Given the description of an element on the screen output the (x, y) to click on. 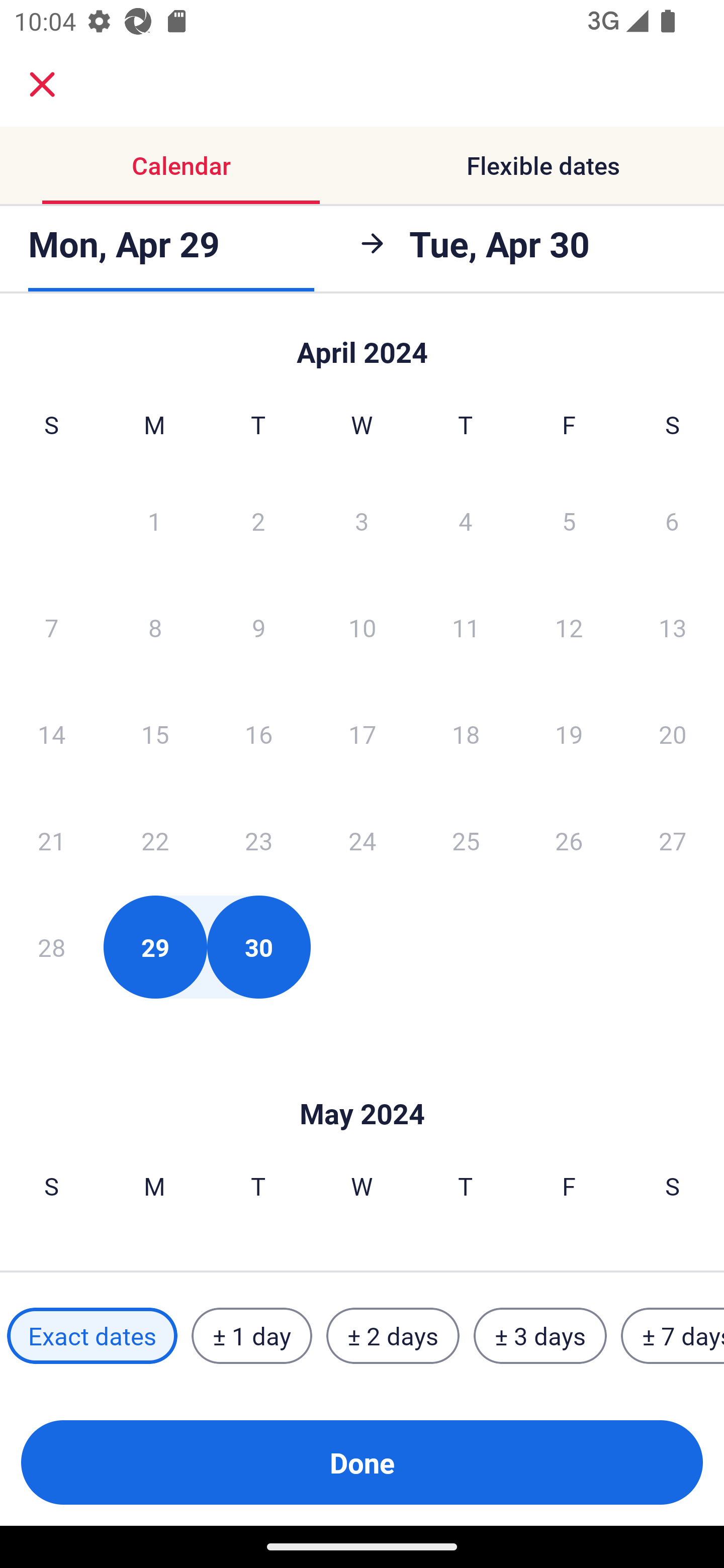
close. (42, 84)
Flexible dates (542, 164)
Skip to Done (362, 343)
1 Monday, April 1, 2024 (154, 520)
2 Tuesday, April 2, 2024 (257, 520)
3 Wednesday, April 3, 2024 (361, 520)
4 Thursday, April 4, 2024 (465, 520)
5 Friday, April 5, 2024 (568, 520)
6 Saturday, April 6, 2024 (672, 520)
7 Sunday, April 7, 2024 (51, 626)
8 Monday, April 8, 2024 (155, 626)
9 Tuesday, April 9, 2024 (258, 626)
10 Wednesday, April 10, 2024 (362, 626)
11 Thursday, April 11, 2024 (465, 626)
12 Friday, April 12, 2024 (569, 626)
13 Saturday, April 13, 2024 (672, 626)
14 Sunday, April 14, 2024 (51, 733)
15 Monday, April 15, 2024 (155, 733)
16 Tuesday, April 16, 2024 (258, 733)
17 Wednesday, April 17, 2024 (362, 733)
18 Thursday, April 18, 2024 (465, 733)
19 Friday, April 19, 2024 (569, 733)
20 Saturday, April 20, 2024 (672, 733)
21 Sunday, April 21, 2024 (51, 840)
22 Monday, April 22, 2024 (155, 840)
23 Tuesday, April 23, 2024 (258, 840)
24 Wednesday, April 24, 2024 (362, 840)
25 Thursday, April 25, 2024 (465, 840)
26 Friday, April 26, 2024 (569, 840)
27 Saturday, April 27, 2024 (672, 840)
28 Sunday, April 28, 2024 (51, 946)
Skip to Done (362, 1083)
Exact dates (92, 1335)
± 1 day (251, 1335)
± 2 days (392, 1335)
± 3 days (539, 1335)
± 7 days (672, 1335)
Done (361, 1462)
